Given the description of an element on the screen output the (x, y) to click on. 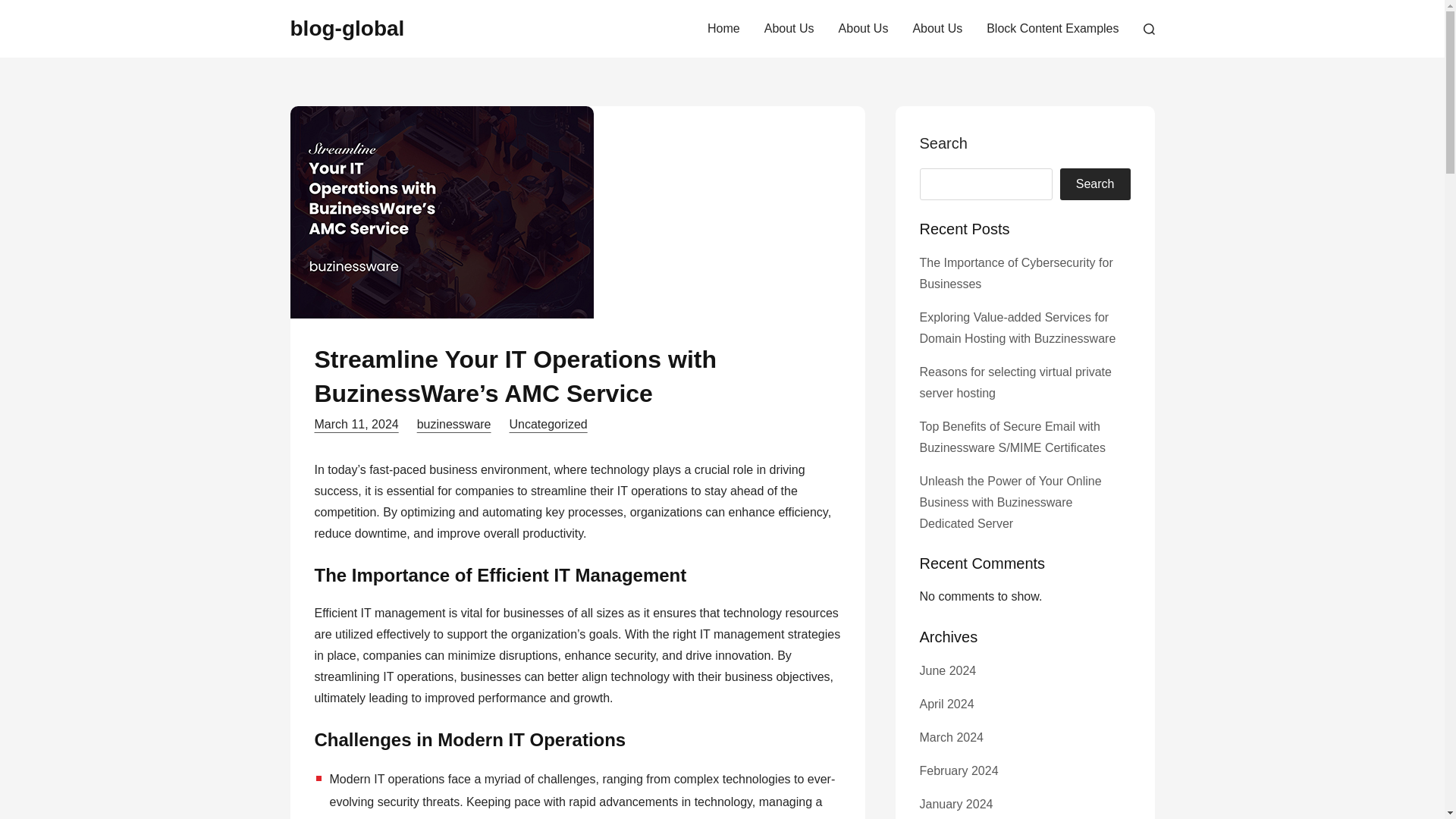
About Us (864, 28)
Search (1095, 183)
June 2024 (946, 670)
Uncategorized (548, 423)
blog-global (346, 28)
Reasons for selecting virtual private server hosting (1014, 382)
About Us (789, 28)
The Importance of Cybersecurity for Businesses (1015, 273)
March 11, 2024 (355, 423)
About Us (936, 28)
April 2024 (946, 703)
Home (723, 28)
buzinessware (454, 423)
